Given the description of an element on the screen output the (x, y) to click on. 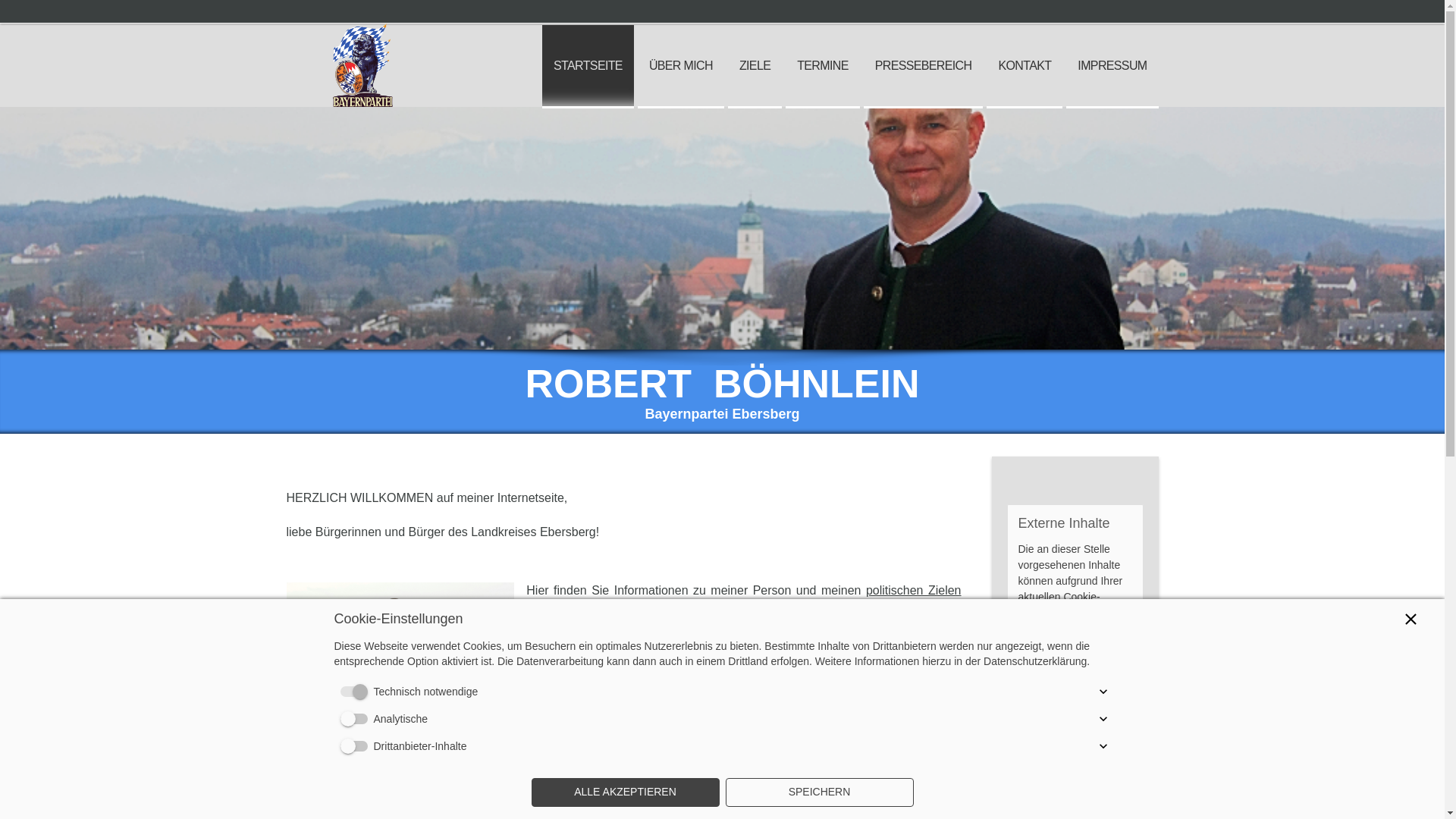
KONTAKT Element type: text (1024, 66)
Termine Element type: text (568, 647)
STARTSEITE Element type: text (587, 66)
ALLE AKZEPTIEREN Element type: text (624, 792)
  Element type: text (362, 31)
TERMINE Element type: text (822, 66)
ZIELE Element type: text (754, 66)
Cookie-Einstellungen Element type: text (1058, 604)
PRESSEBEREICH Element type: text (923, 66)
IMPRESSUM Element type: text (1111, 66)
SPEICHERN Element type: text (818, 792)
